Given the description of an element on the screen output the (x, y) to click on. 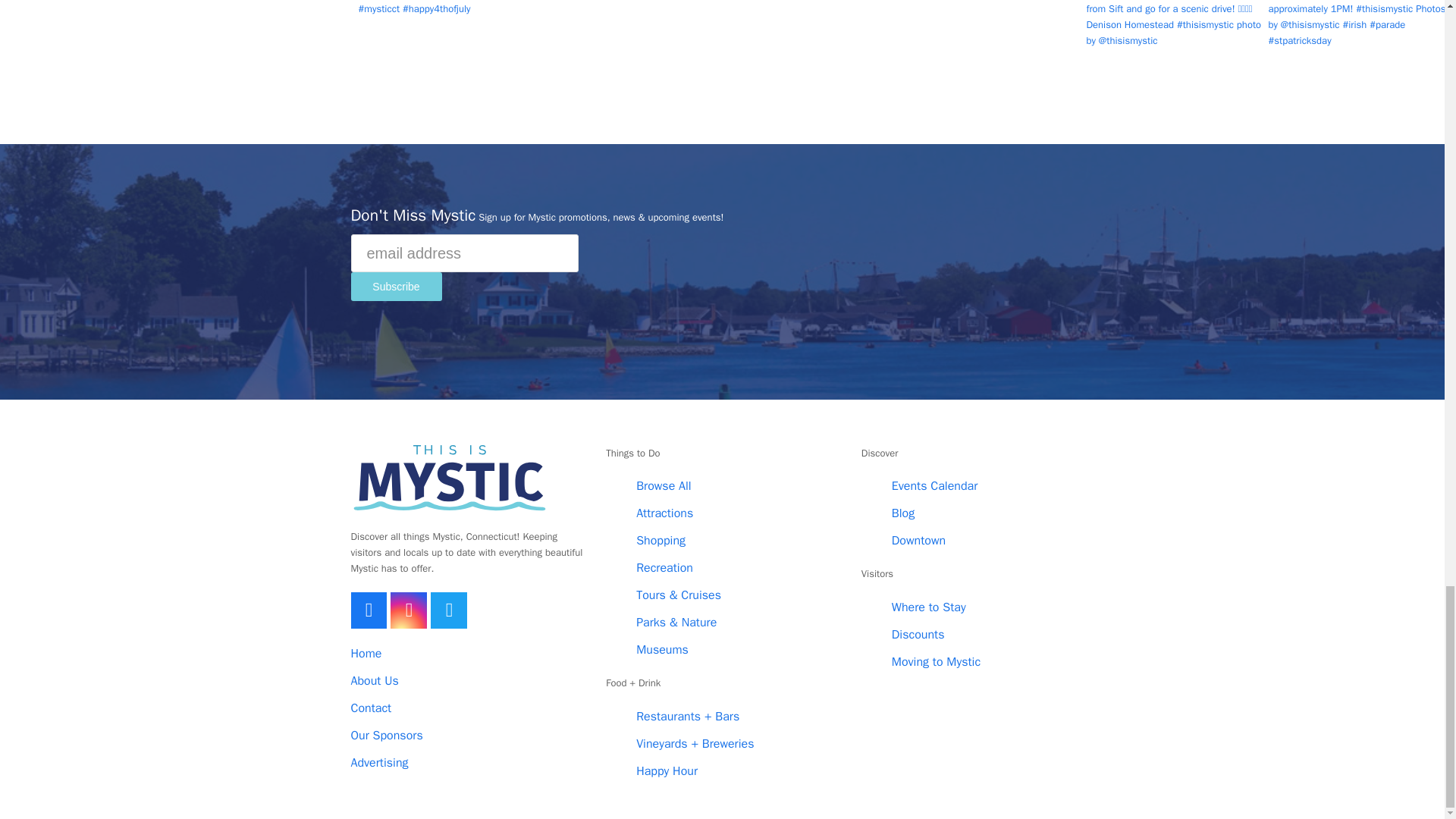
Facebook (368, 610)
Subscribe (395, 286)
Instagram (408, 610)
